Given the description of an element on the screen output the (x, y) to click on. 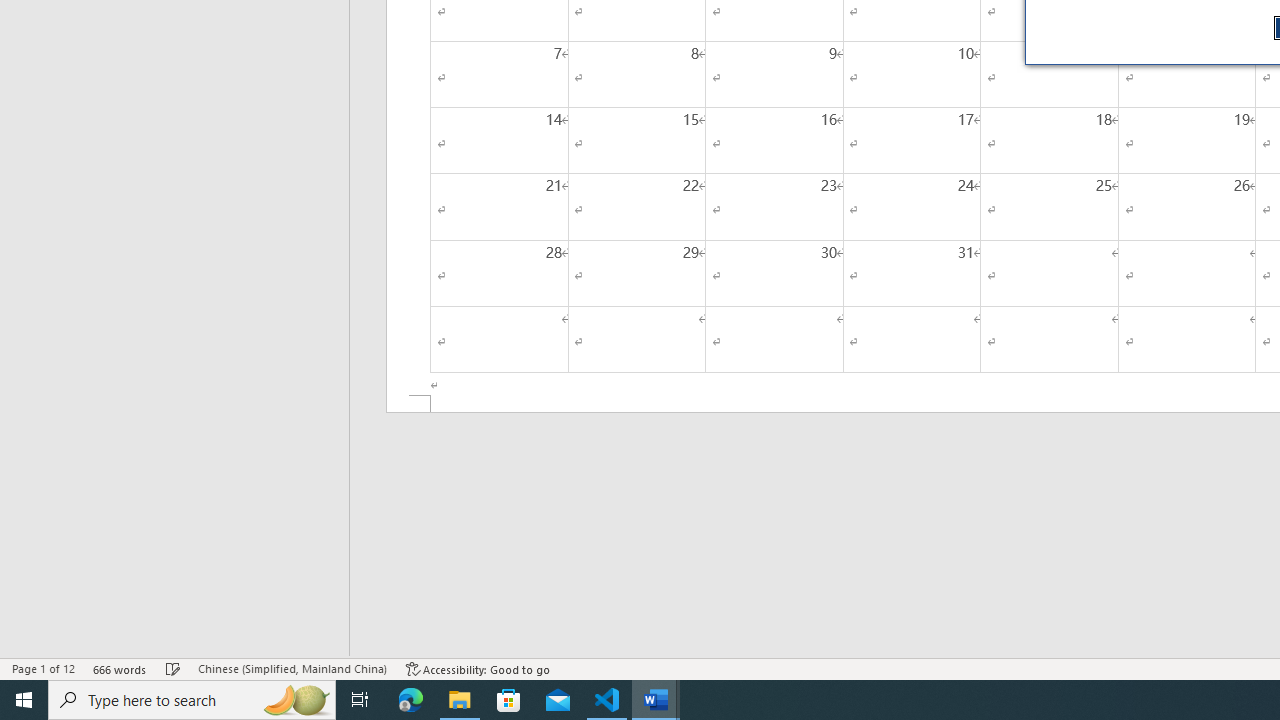
Page Number Page 1 of 12 (43, 668)
